Given the description of an element on the screen output the (x, y) to click on. 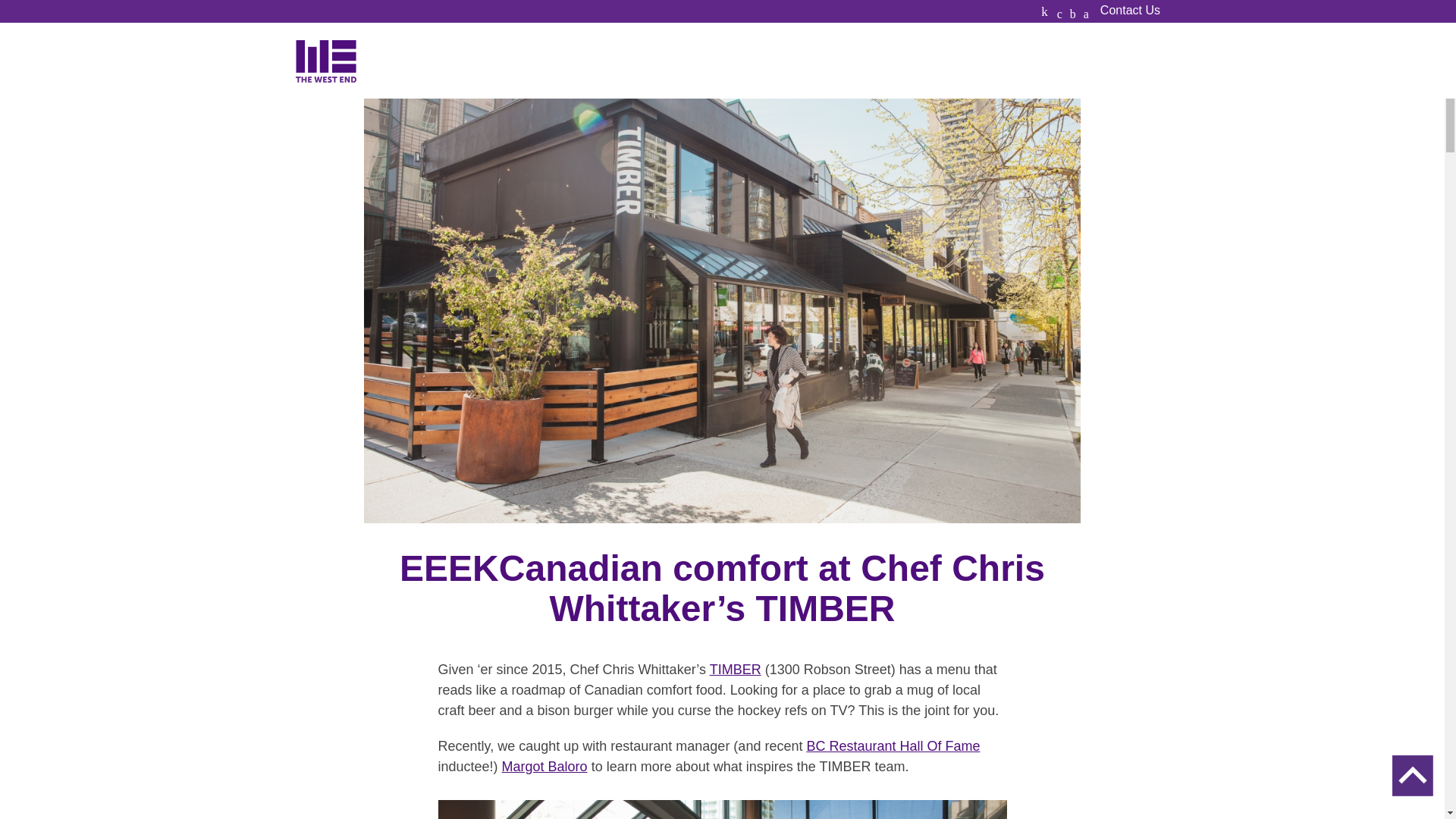
Contact Us (1130, 10)
